Given the description of an element on the screen output the (x, y) to click on. 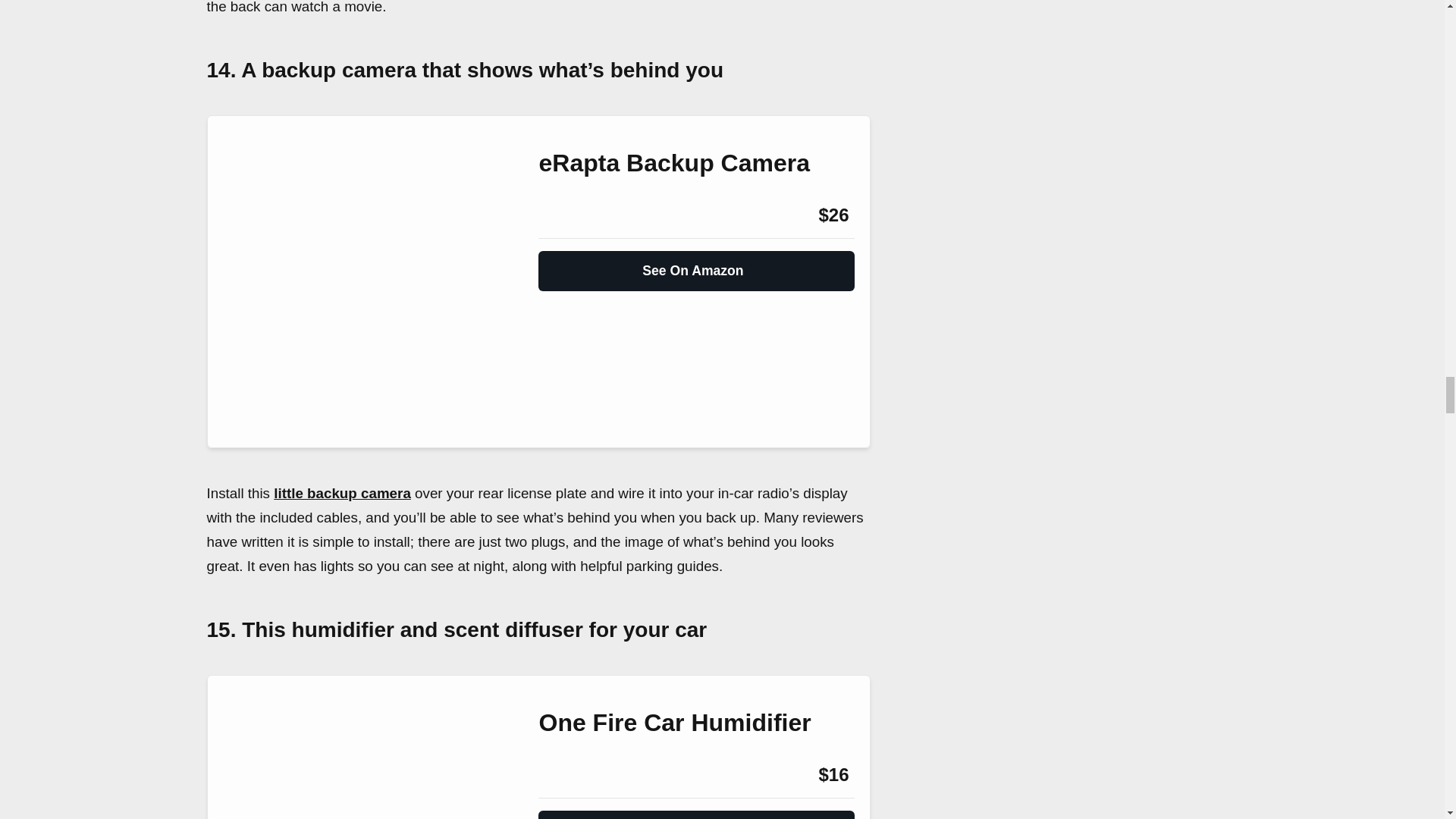
Amazon (579, 774)
Amazon (579, 215)
